Given the description of an element on the screen output the (x, y) to click on. 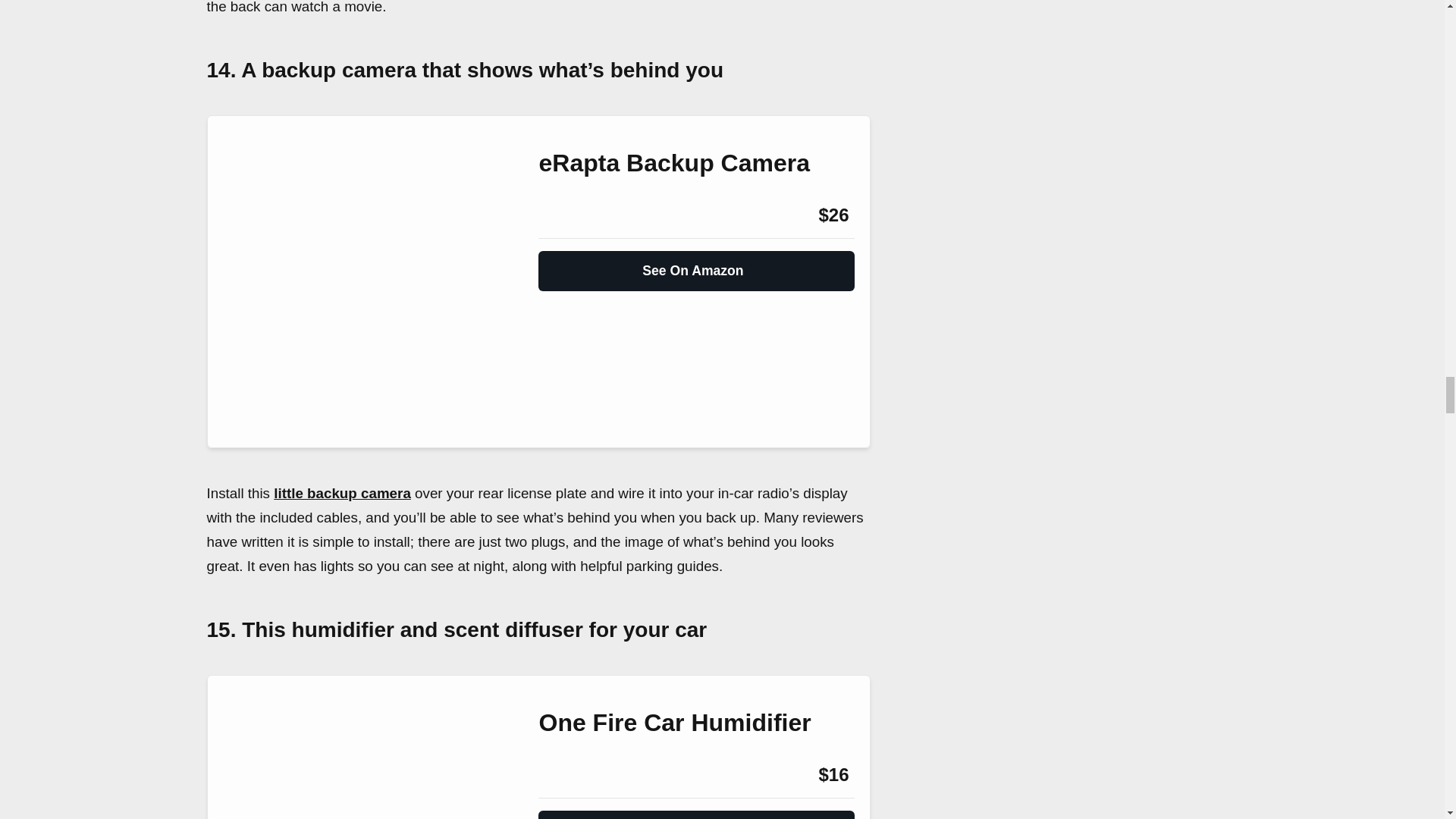
Amazon (579, 774)
Amazon (579, 215)
